Given the description of an element on the screen output the (x, y) to click on. 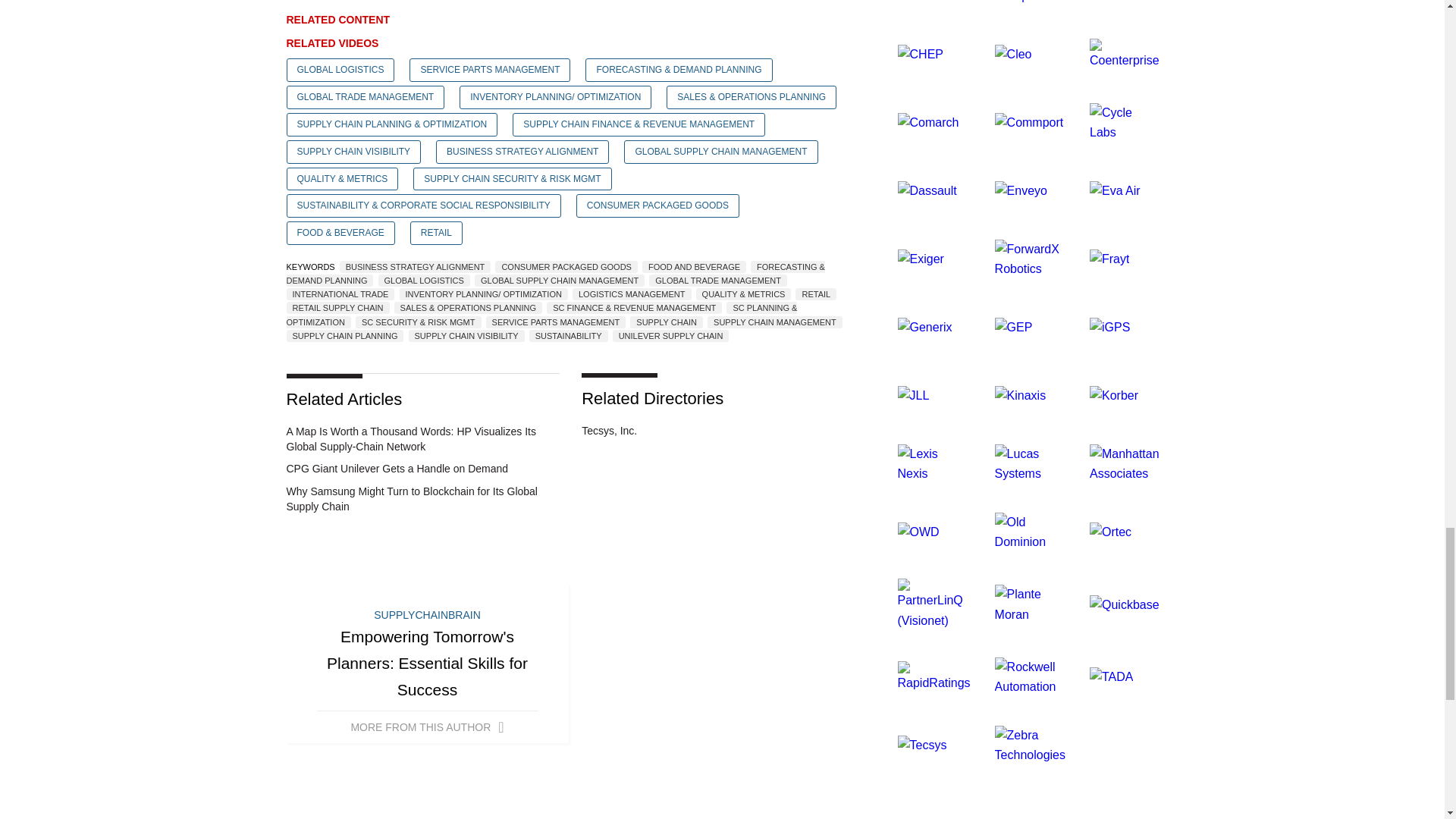
Comarch (928, 122)
Eva Air (1114, 190)
Enveyo (1020, 190)
Commport (1029, 122)
Cleo (1013, 53)
CHEP (920, 53)
Cycle Labs (1123, 122)
Coenterprise (1123, 53)
Dassault (927, 190)
